Given the description of an element on the screen output the (x, y) to click on. 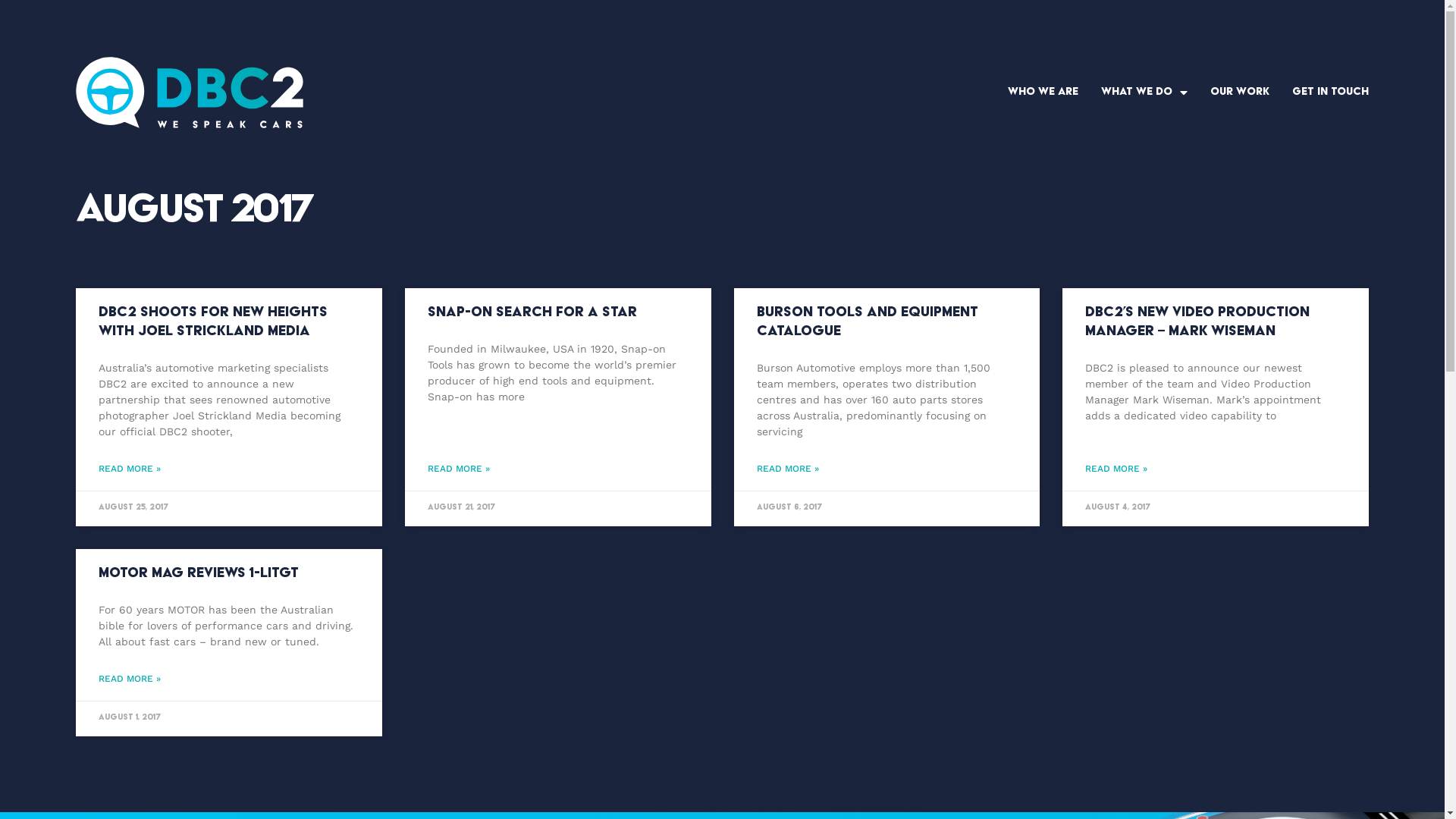
Snap-on Search for a Star Element type: text (532, 312)
Our Work Element type: text (1239, 92)
Burson Tools and Equipment Catalogue Element type: text (867, 321)
Motor Mag Reviews 1-LITGT Element type: text (198, 573)
DBC2 Shoots for New Heights With Joel Strickland Media Element type: text (212, 321)
Get In Touch Element type: text (1330, 92)
Who We Are Element type: text (1042, 92)
What We Do Element type: text (1144, 92)
